Given the description of an element on the screen output the (x, y) to click on. 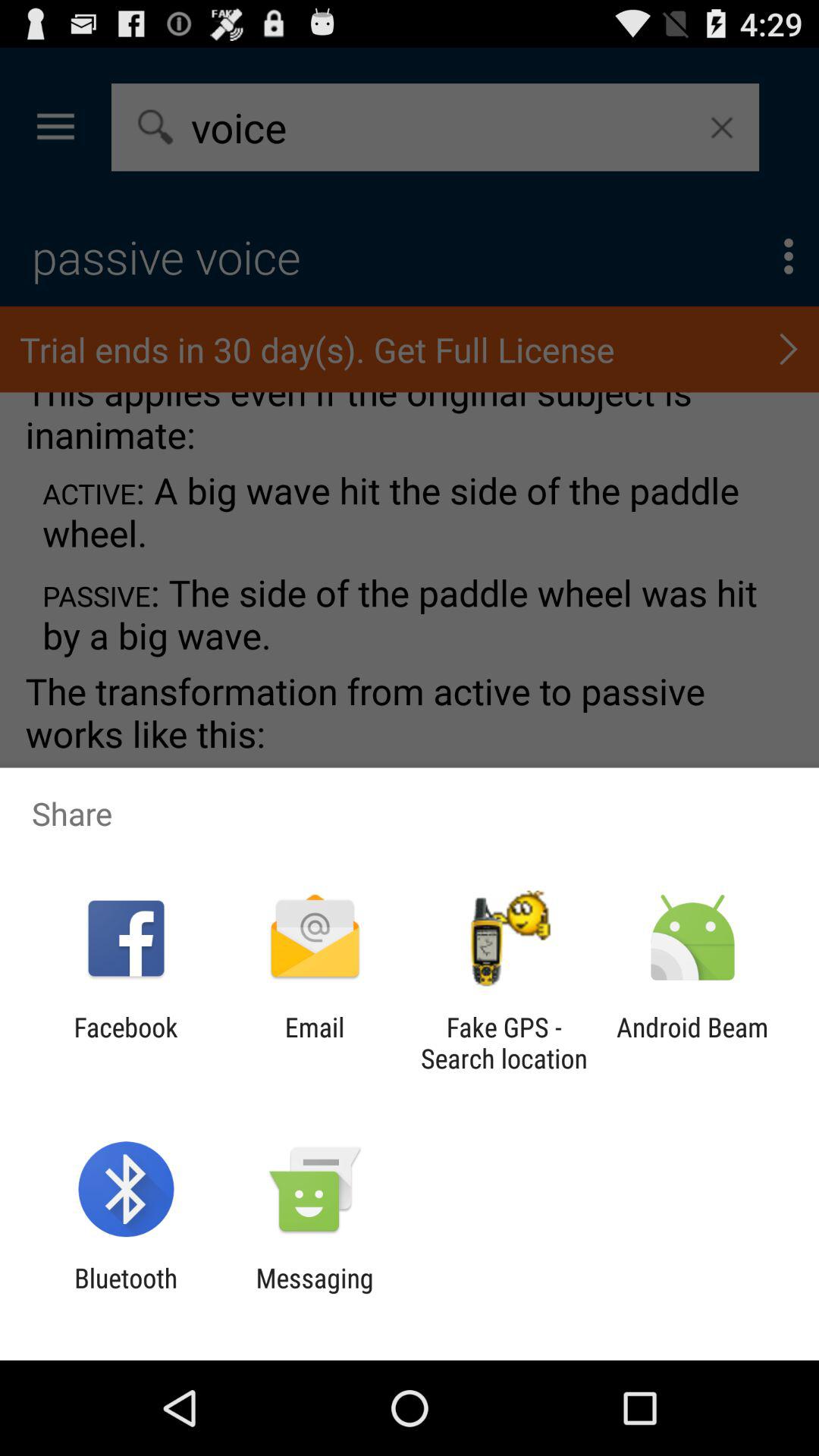
select the item next to facebook app (314, 1042)
